Given the description of an element on the screen output the (x, y) to click on. 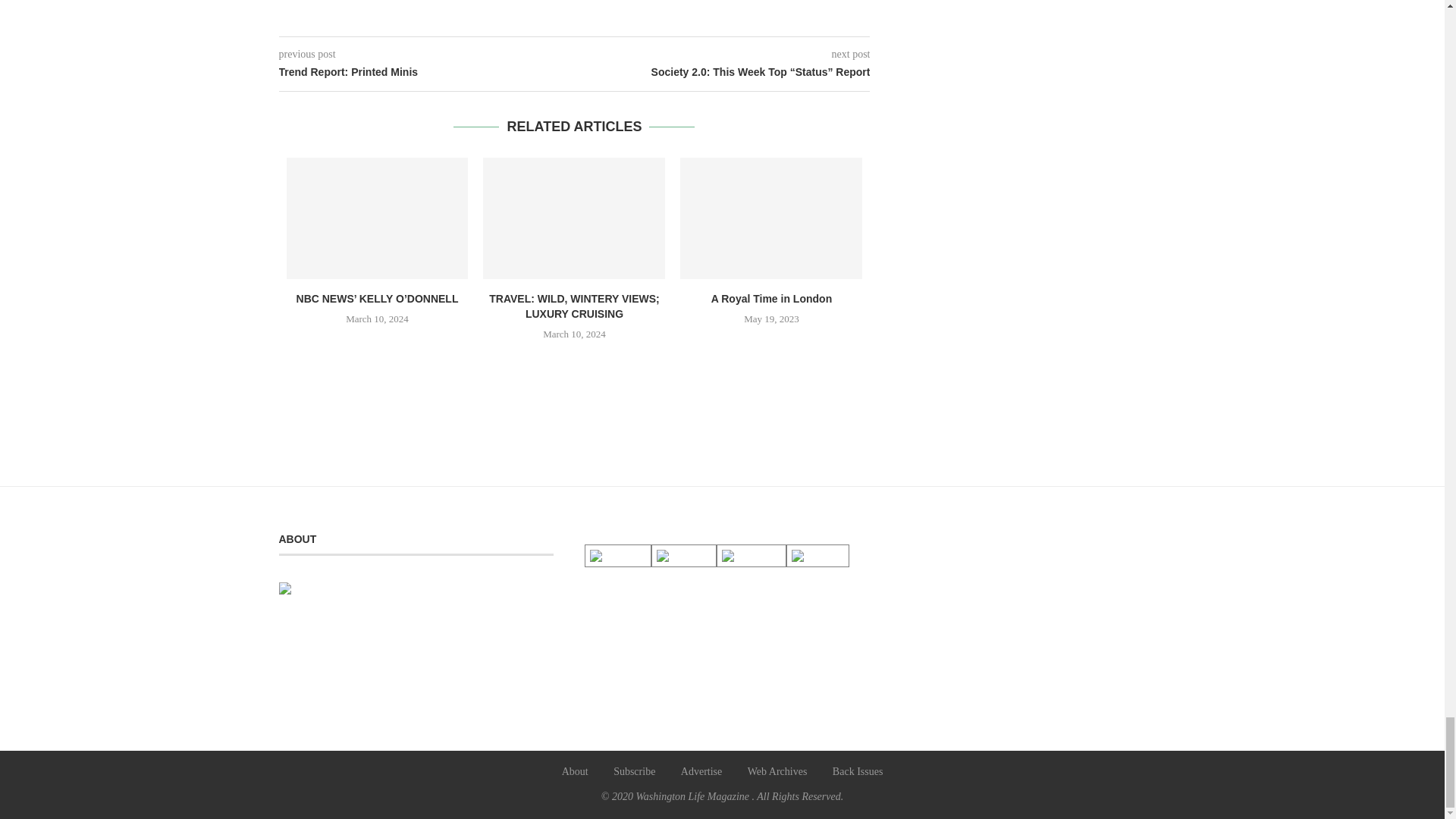
TRAVEL: WILD, WINTERY VIEWS; LUXURY CRUISING (574, 218)
A Royal Time in London (770, 218)
